Given the description of an element on the screen output the (x, y) to click on. 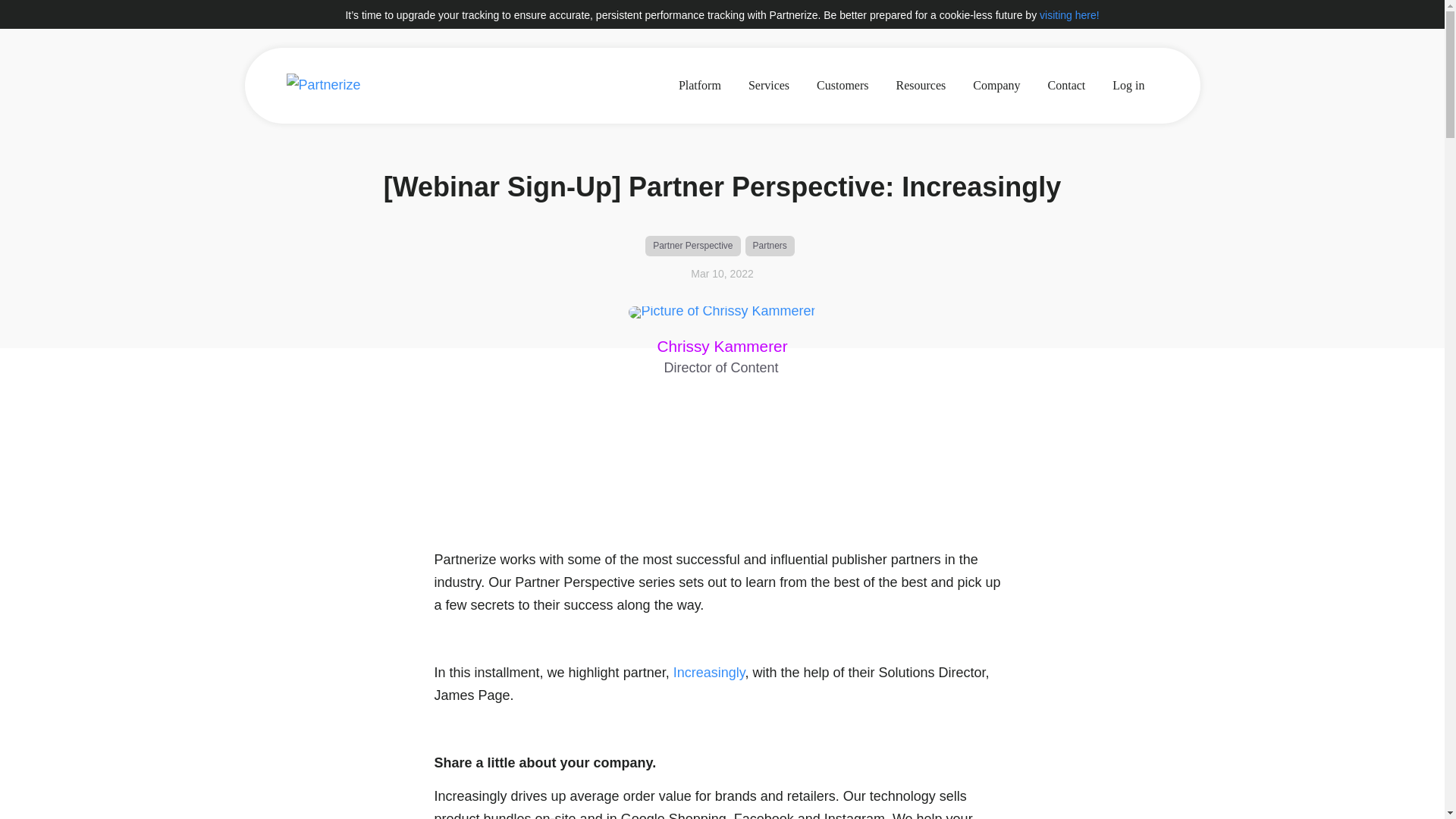
visiting here! (1069, 15)
Partnerize (357, 84)
Customers (842, 85)
Services (769, 85)
Platform (700, 85)
